Given the description of an element on the screen output the (x, y) to click on. 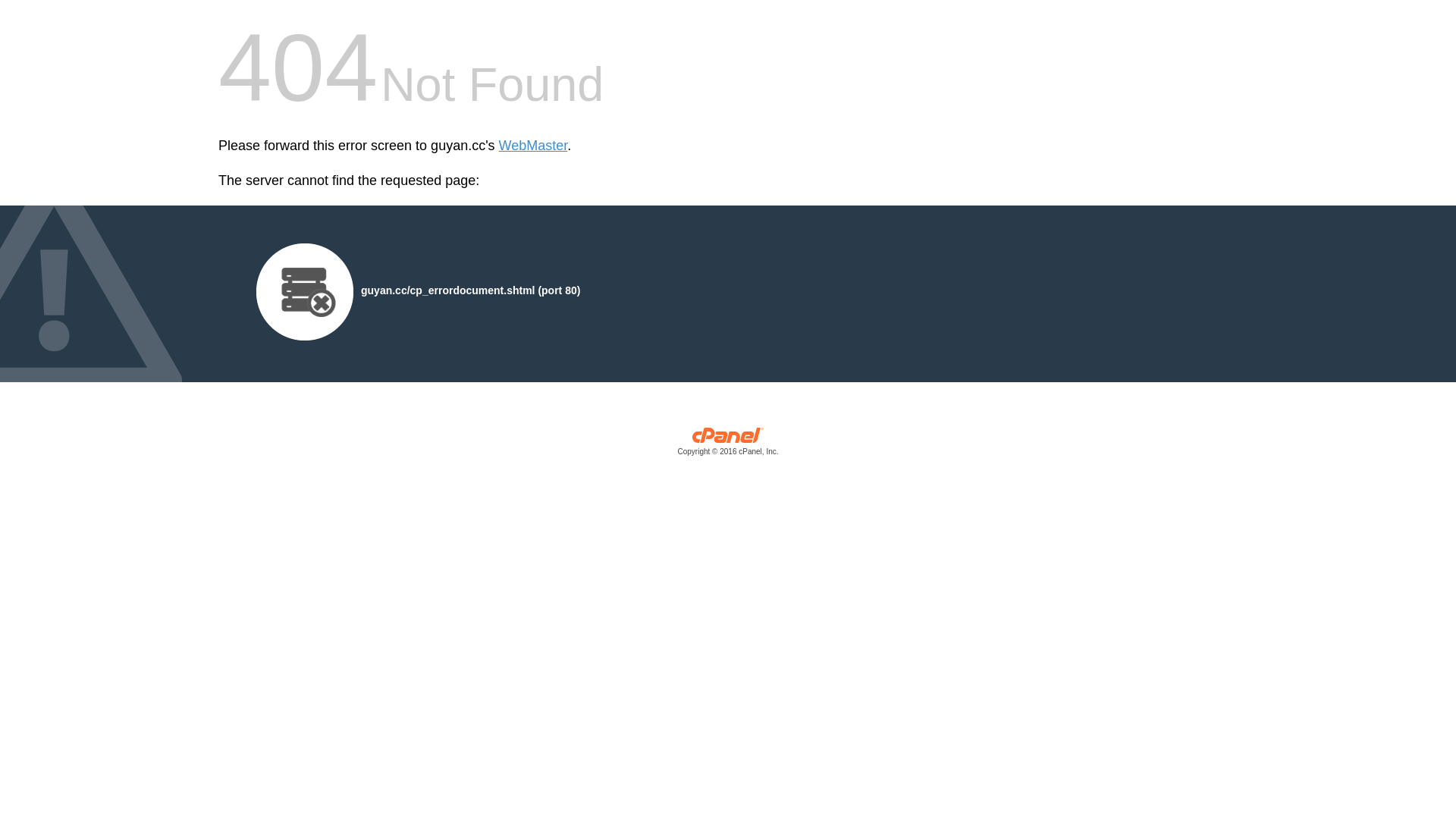
WebMaster Element type: text (532, 145)
